Given the description of an element on the screen output the (x, y) to click on. 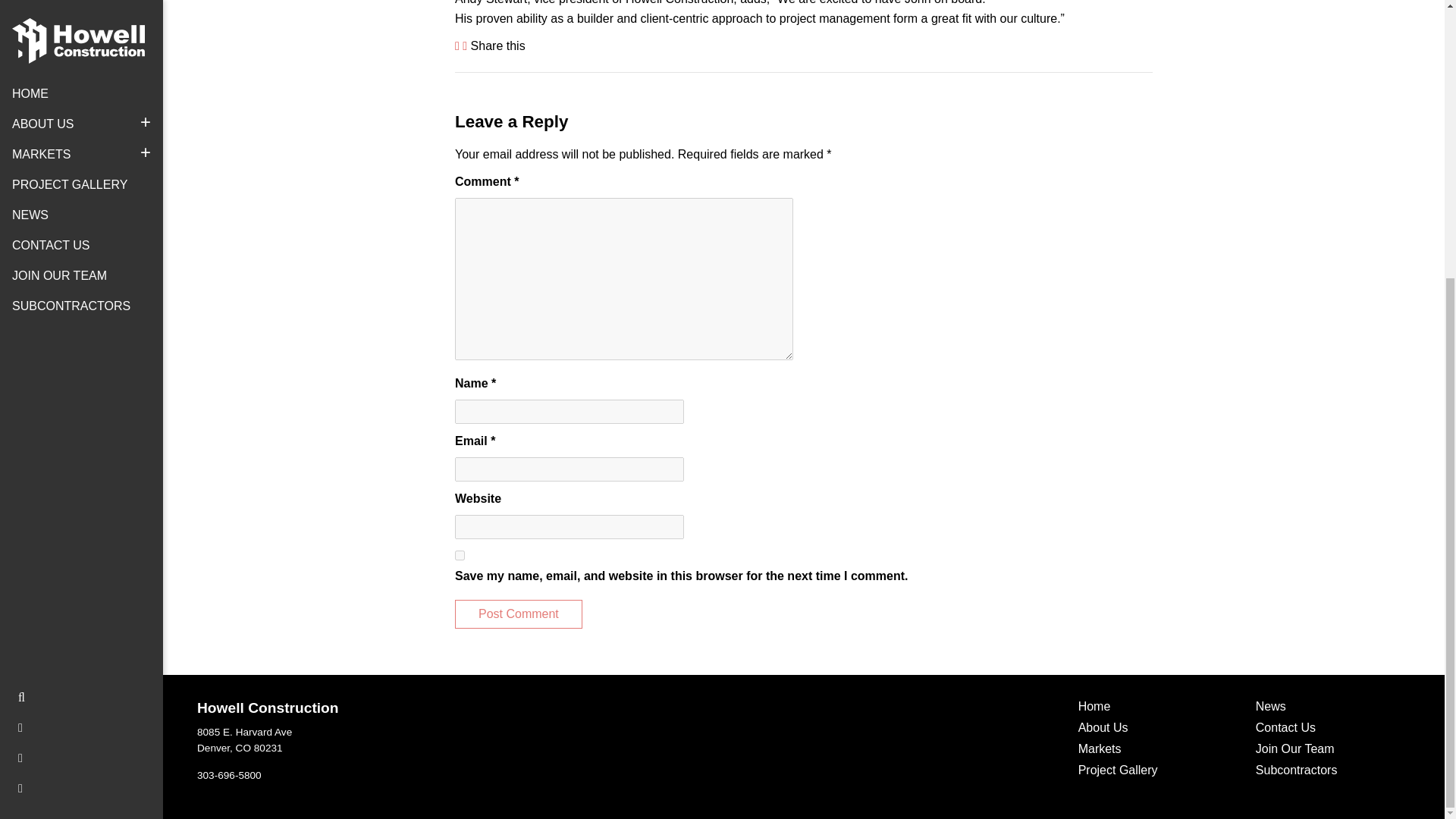
Contact Us (1332, 729)
News (1332, 708)
Post Comment (518, 613)
303-696-5800 (229, 775)
About Us (1155, 729)
yes (391, 739)
Post Comment (459, 555)
Home (518, 613)
Join Our Team (1155, 708)
